Given the description of an element on the screen output the (x, y) to click on. 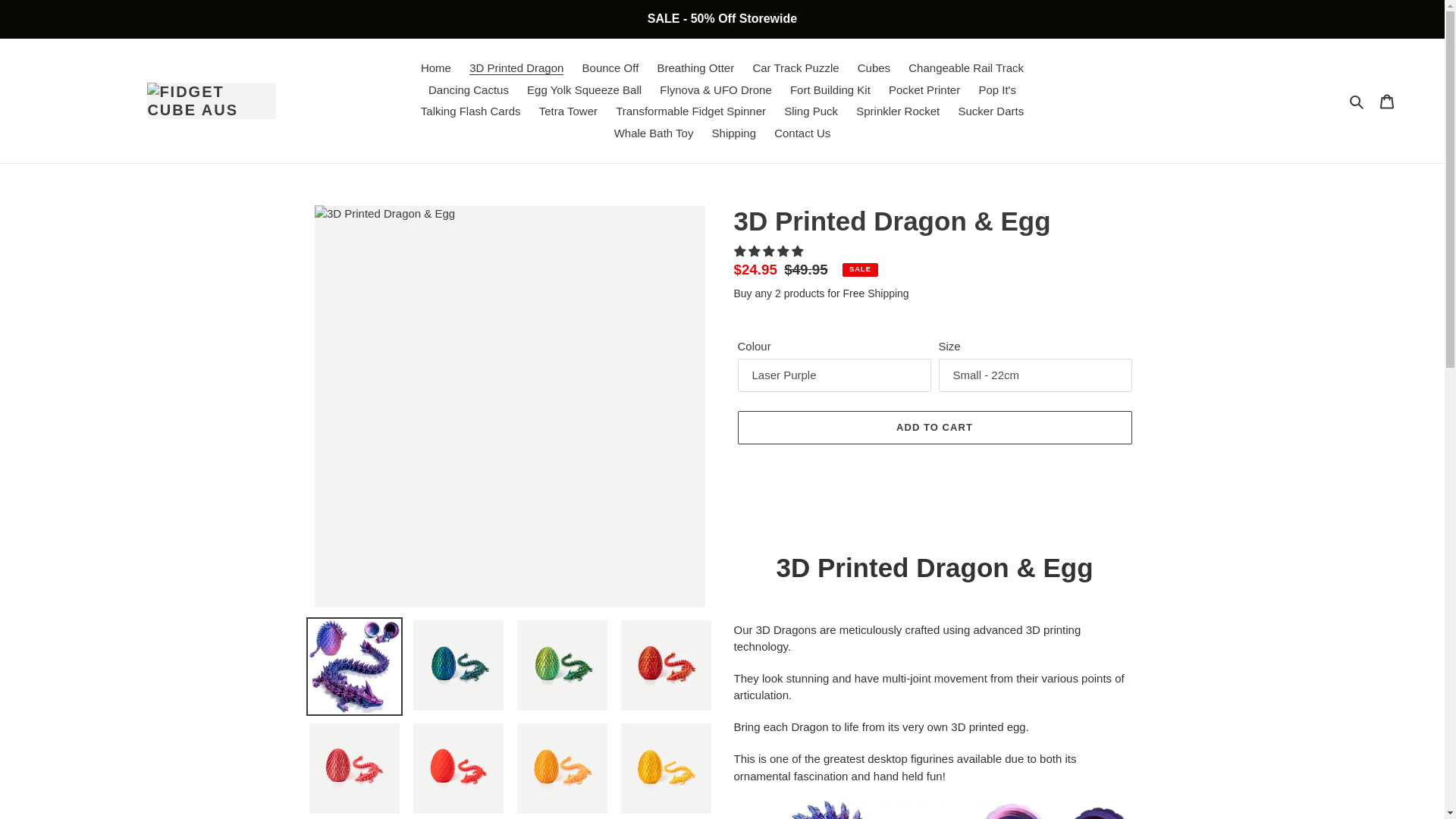
Whale Bath Toy (654, 133)
Contact Us (802, 133)
Cubes (874, 68)
Dancing Cactus (468, 89)
Home (435, 68)
Sprinkler Rocket (897, 111)
Egg Yolk Squeeze Ball (584, 89)
Talking Flash Cards (470, 111)
Breathing Otter (695, 68)
Pocket Printer (924, 89)
